Given the description of an element on the screen output the (x, y) to click on. 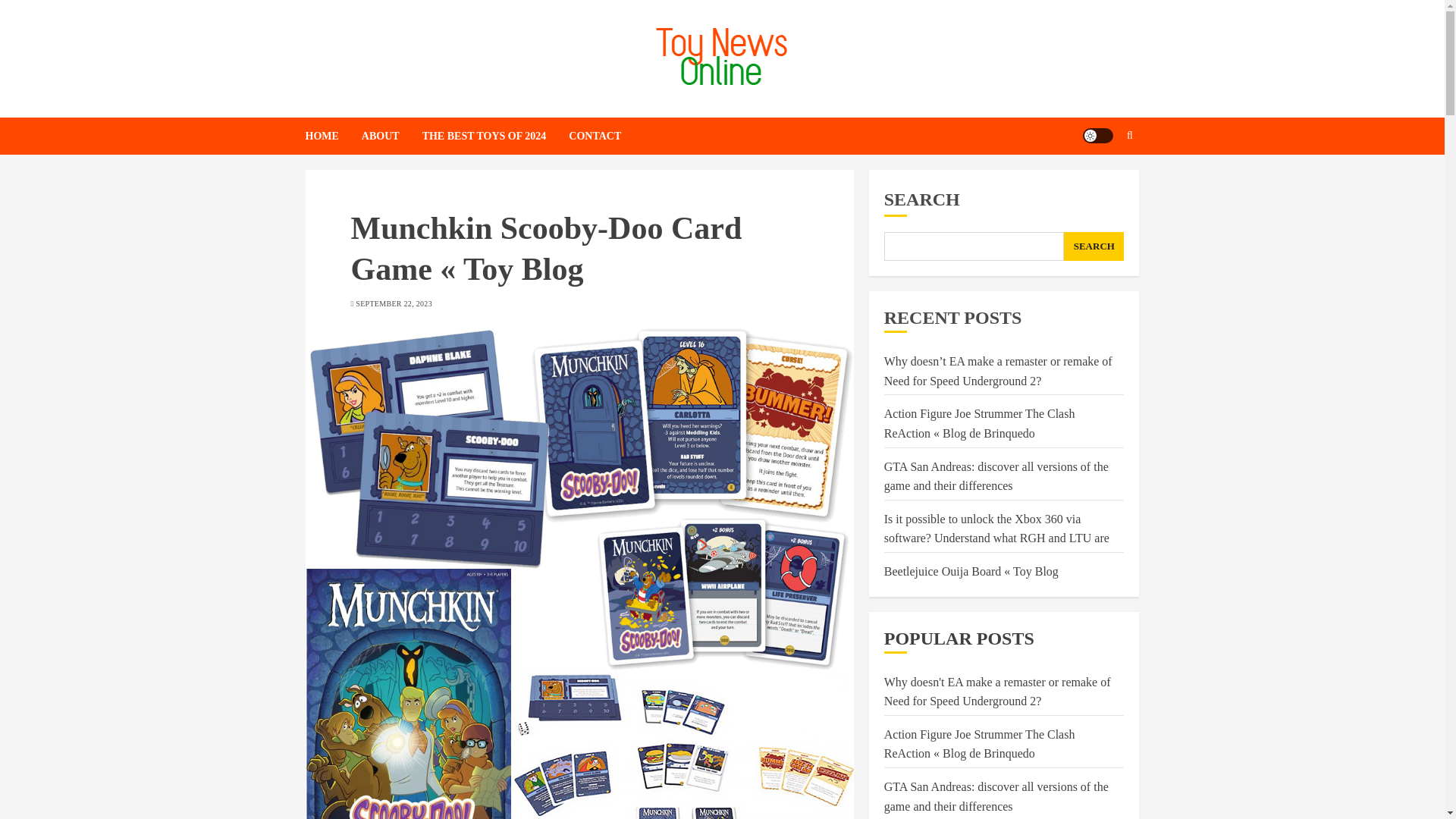
ABOUT (391, 135)
SEPTEMBER 22, 2023 (393, 303)
Search (1099, 181)
HOME (332, 135)
CONTACT (595, 135)
THE BEST TOYS OF 2024 (495, 135)
